Given the description of an element on the screen output the (x, y) to click on. 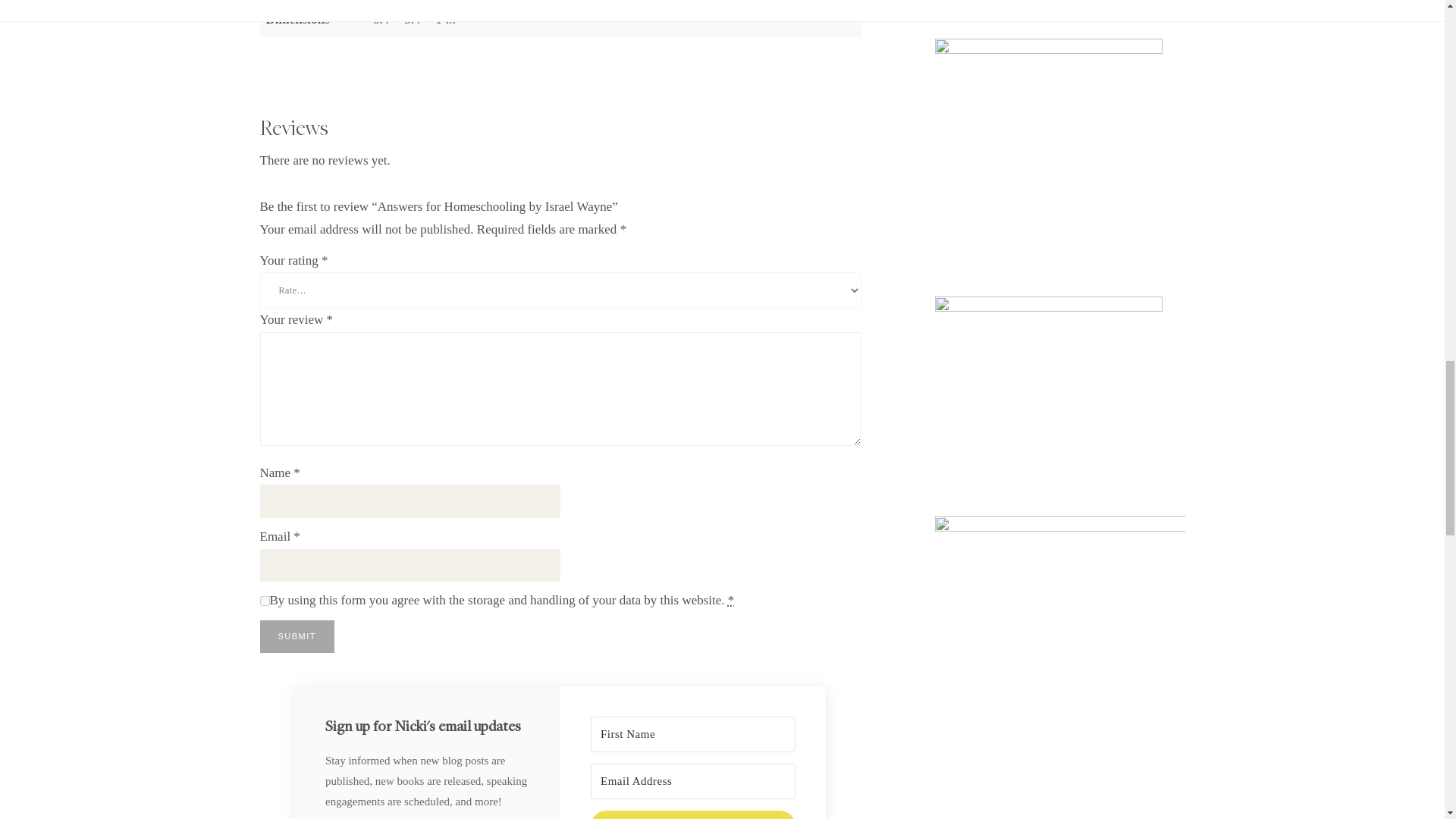
SUBSCRIBE (692, 814)
Submit (296, 635)
Submit (296, 635)
